Given the description of an element on the screen output the (x, y) to click on. 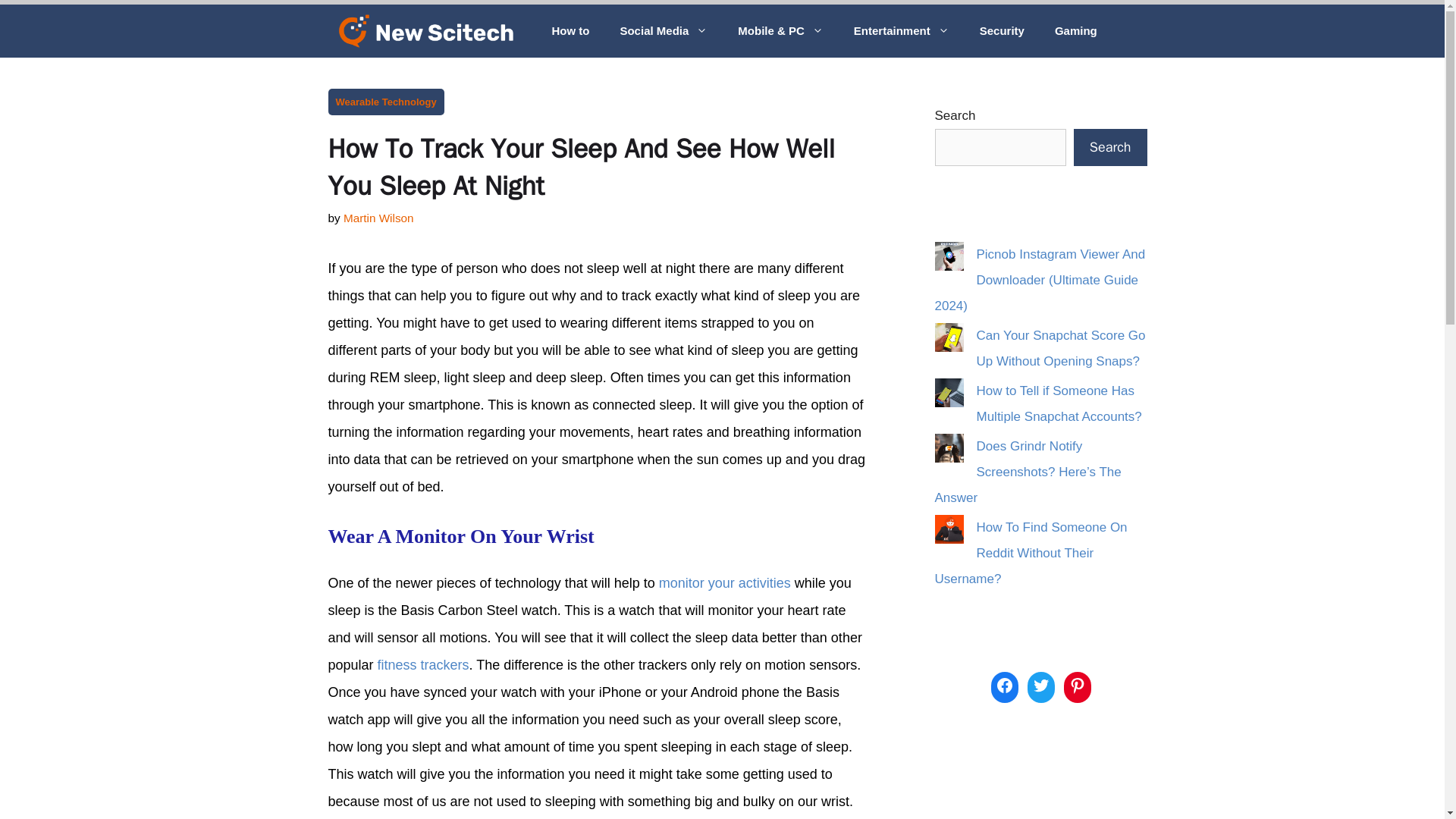
Social Media (663, 30)
Security (1001, 30)
Entertainment (900, 30)
Newscitech (429, 30)
Newscitech (426, 30)
View all posts by Martin Wilson (378, 217)
How to (569, 30)
